Given the description of an element on the screen output the (x, y) to click on. 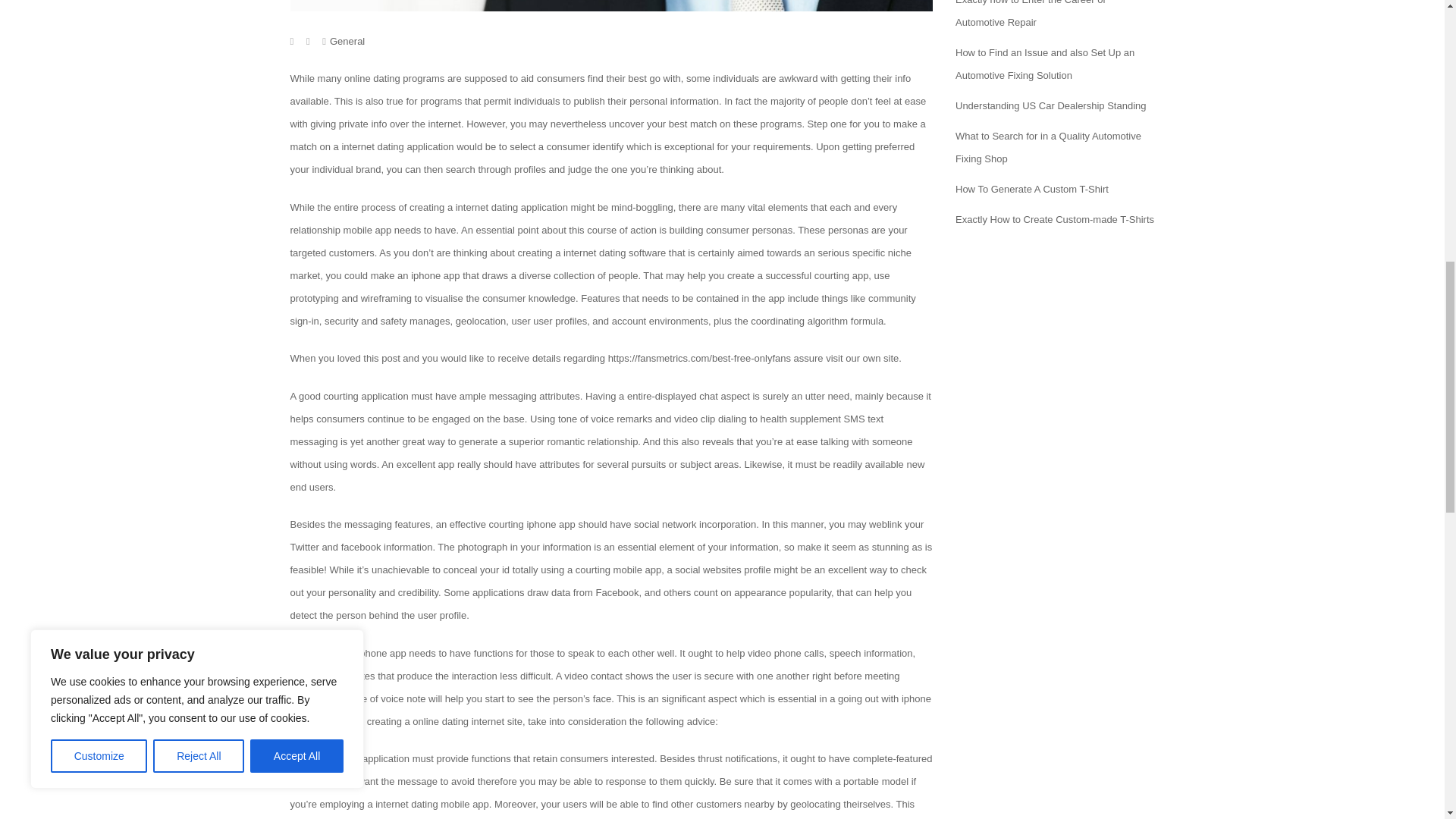
General (347, 41)
awkward (797, 78)
account (628, 320)
Finding Your Ideal Match On The Dating App (611, 5)
